Given the description of an element on the screen output the (x, y) to click on. 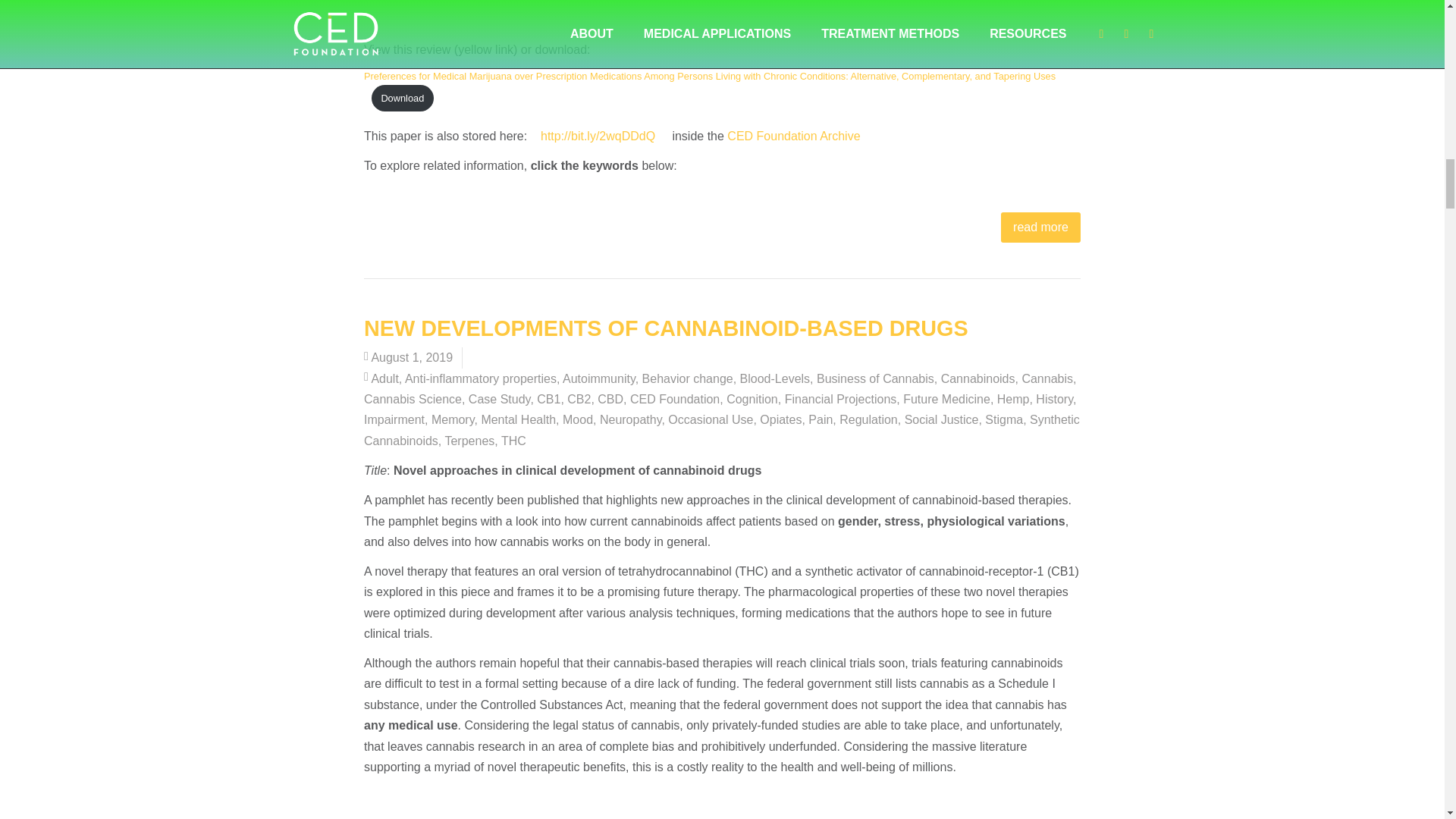
Permalink to New Developments of Cannabinoid-Based Drugs (666, 328)
